Given the description of an element on the screen output the (x, y) to click on. 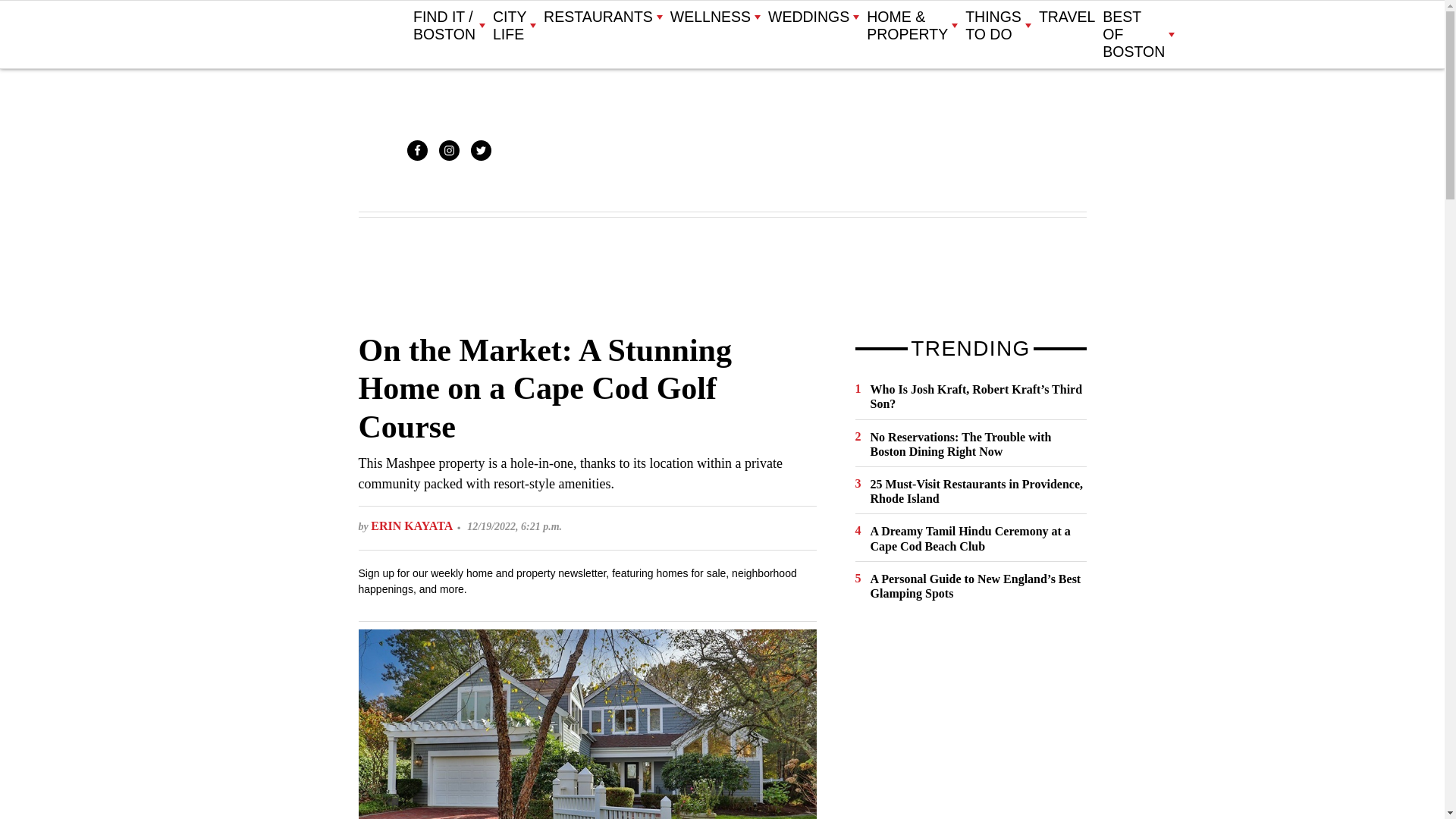
WELLNESS (714, 16)
THINGS TO DO (997, 25)
RESTAURANTS (602, 16)
WEDDINGS (813, 16)
